Given the description of an element on the screen output the (x, y) to click on. 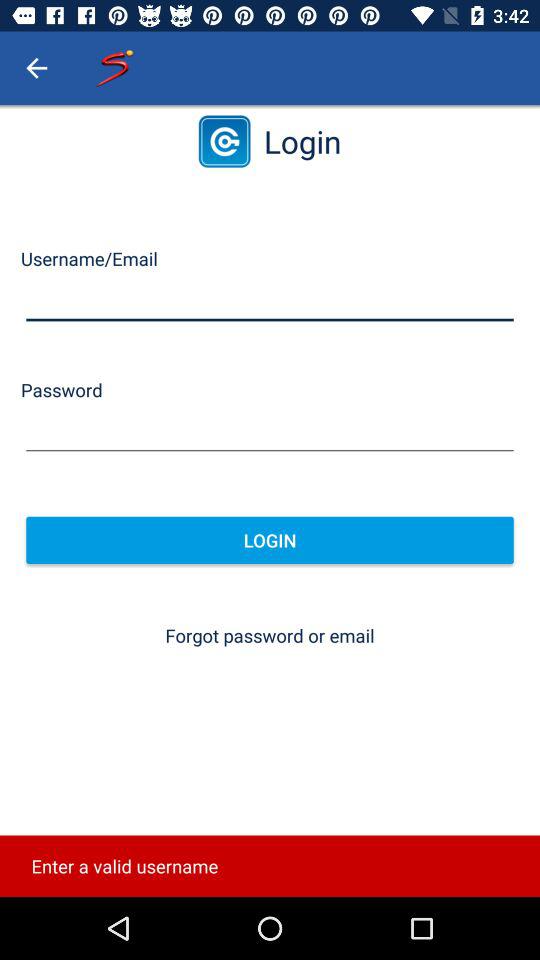
click forgot password or item (269, 635)
